Given the description of an element on the screen output the (x, y) to click on. 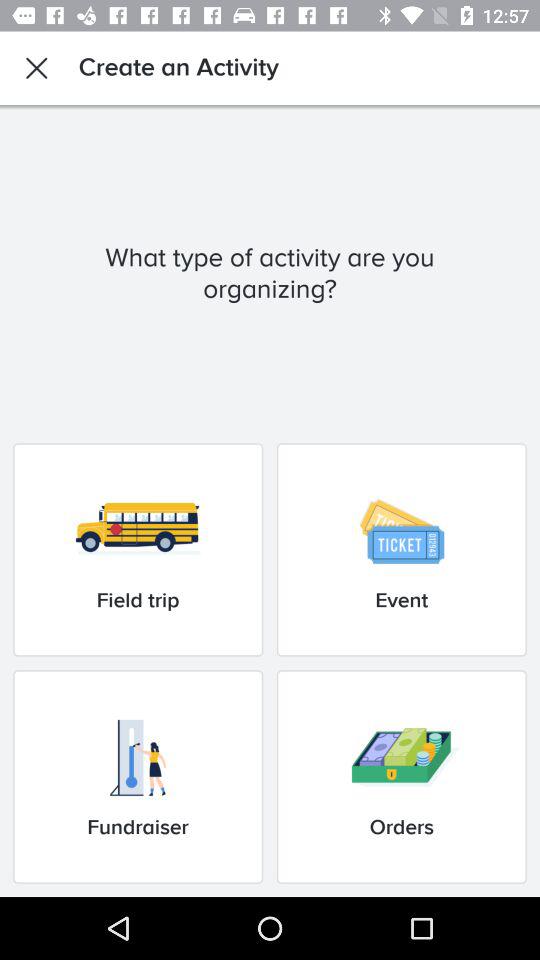
click fundraiser at the bottom left corner (138, 776)
